Given the description of an element on the screen output the (x, y) to click on. 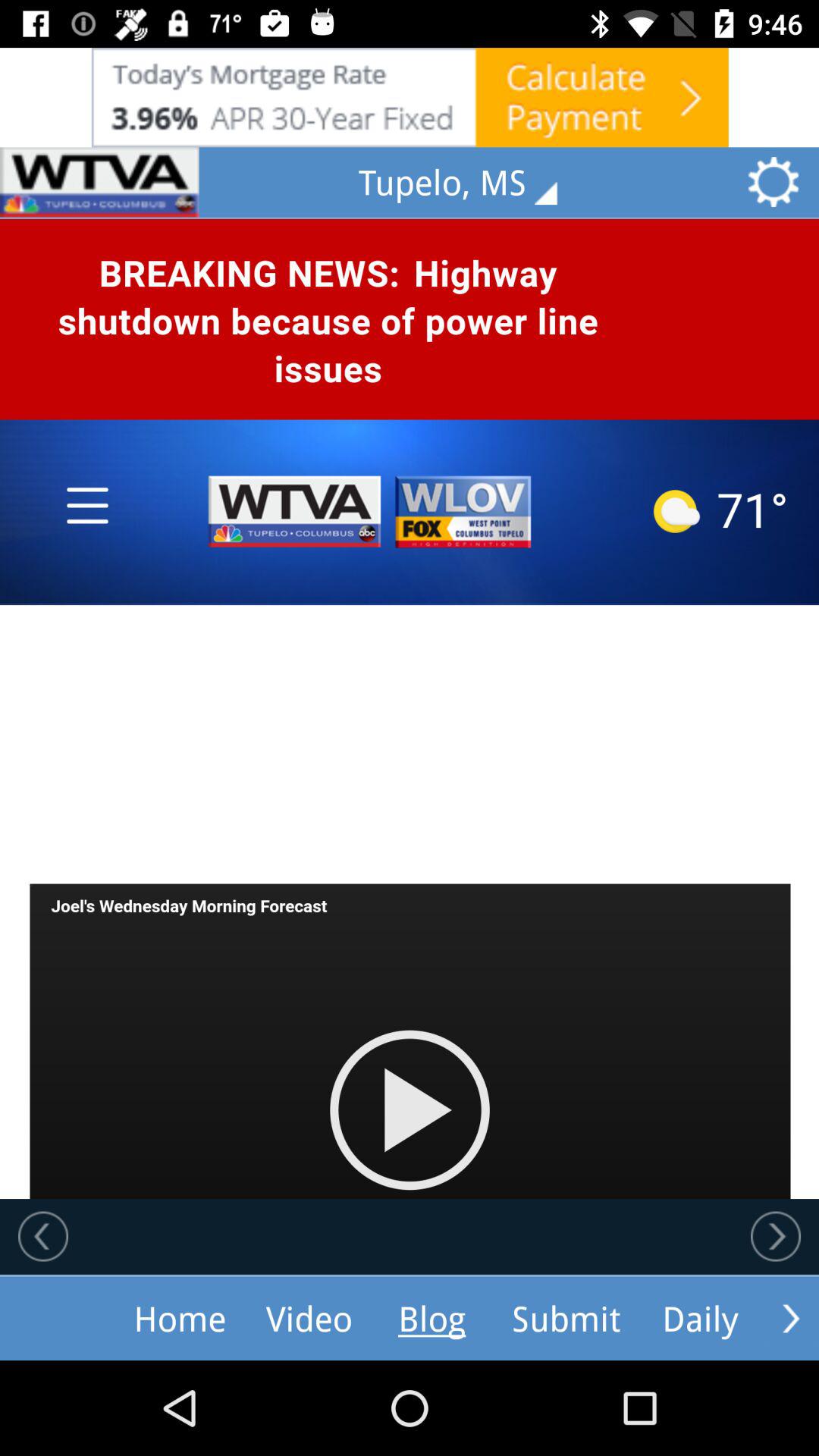
go back (43, 1236)
